Given the description of an element on the screen output the (x, y) to click on. 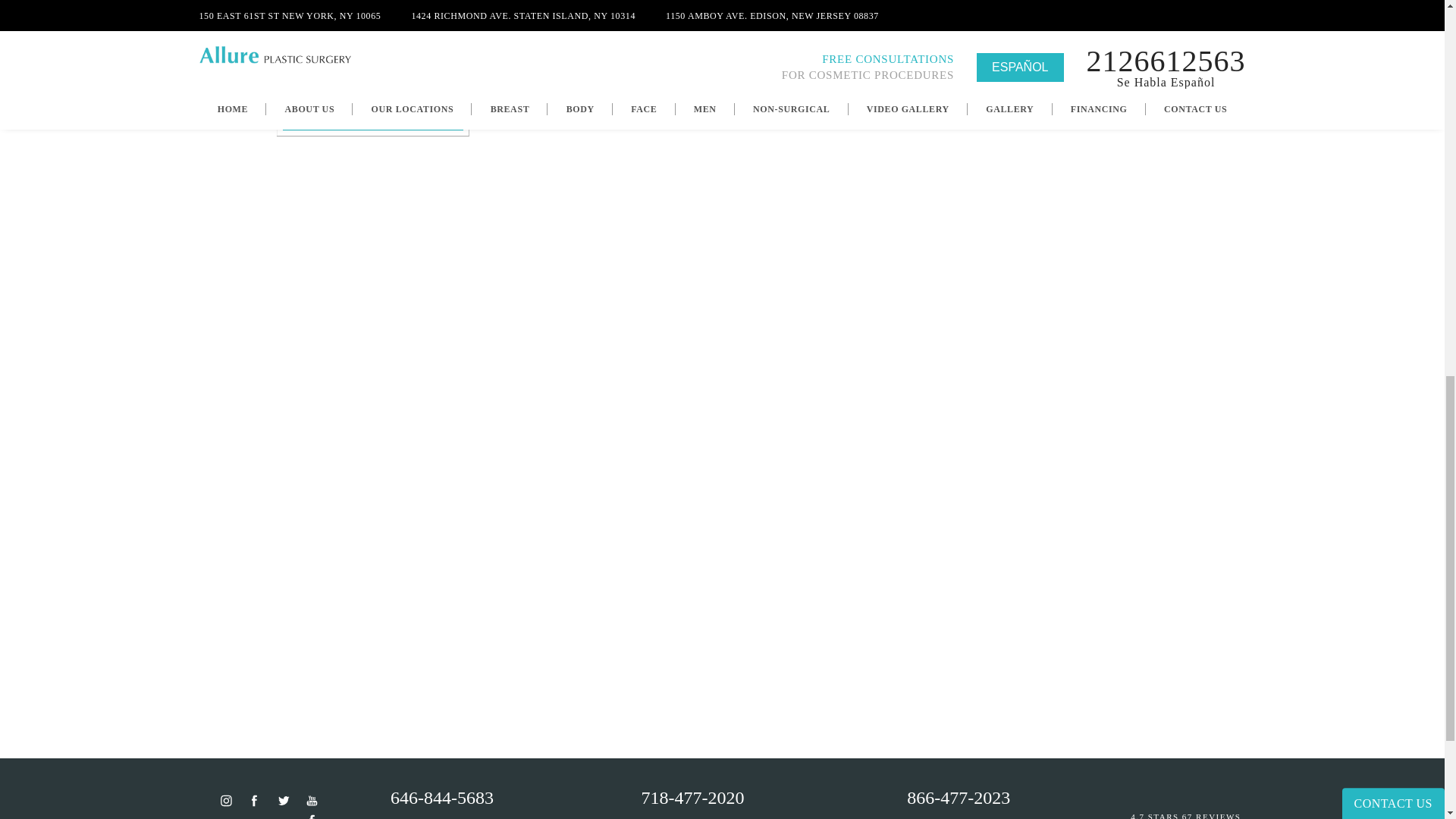
Allure Plastic Surgery on Twitter (282, 800)
Allure Plastic Surgery on Facebook (254, 800)
Allure Plastic Surgery on Youtube (311, 800)
Allure Plastic Surgery on Instagram (225, 800)
Allure Plastic Surgery on Facebook (311, 816)
